Given the description of an element on the screen output the (x, y) to click on. 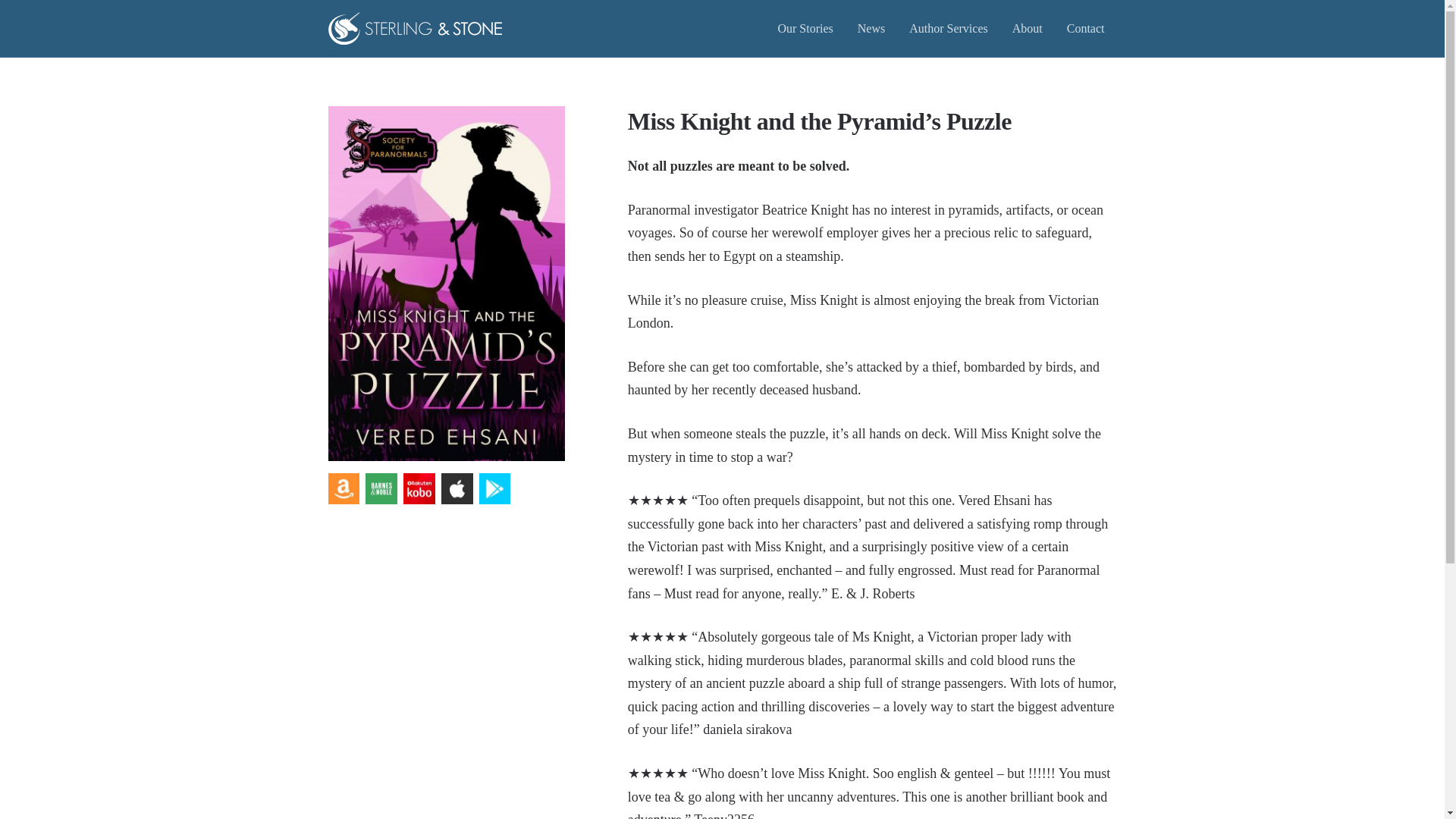
Contact (1085, 28)
About (1027, 28)
Our Stories (804, 28)
News (870, 28)
Author Services (948, 28)
